Given the description of an element on the screen output the (x, y) to click on. 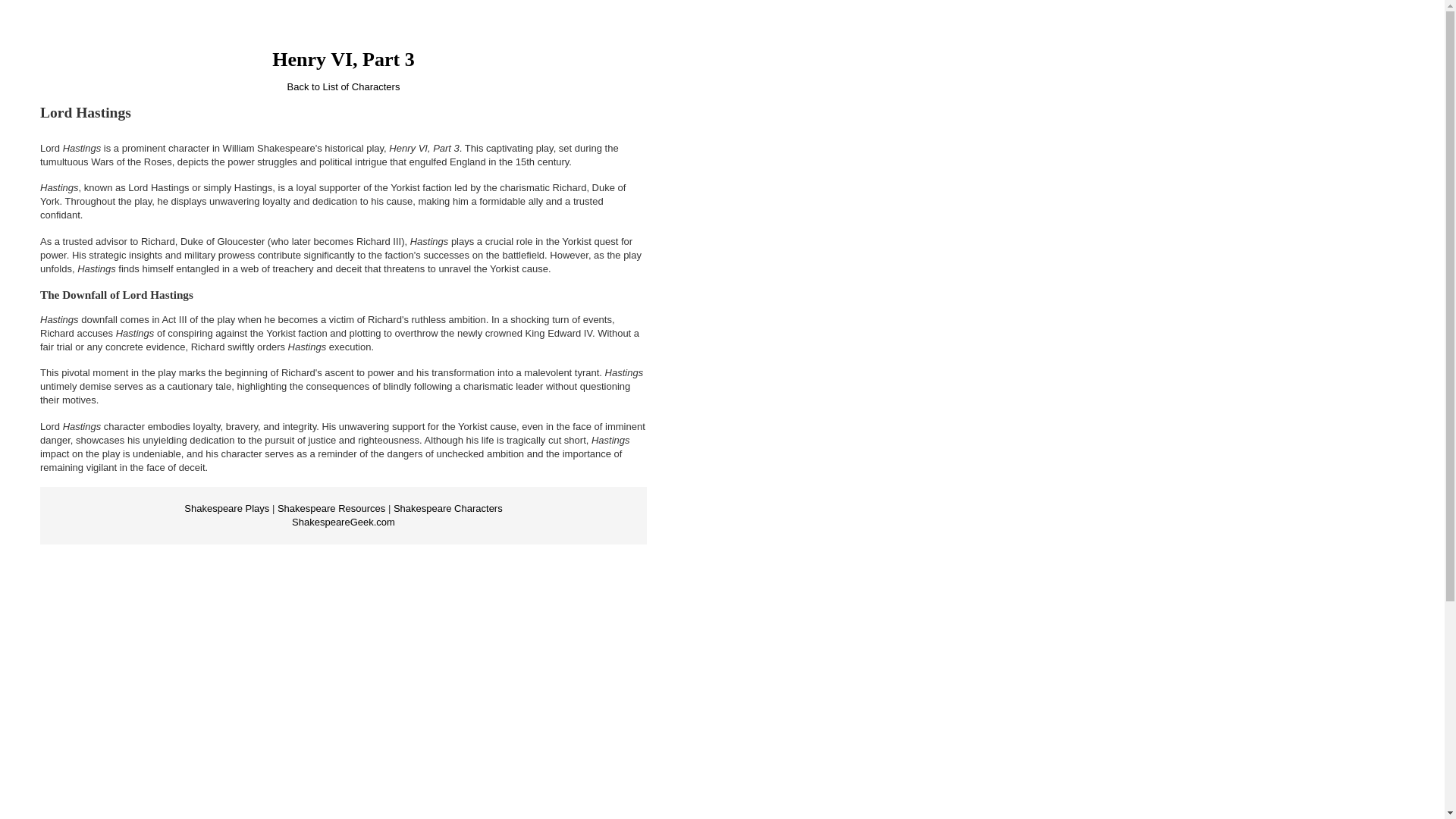
Shakespeare Plays (226, 508)
Shakespeare Characters (447, 508)
ShakespeareGeek.com (343, 521)
Back to List of Characters (343, 86)
Henry VI, Part 3 (342, 59)
Shakespeare Resources (331, 508)
